Given the description of an element on the screen output the (x, y) to click on. 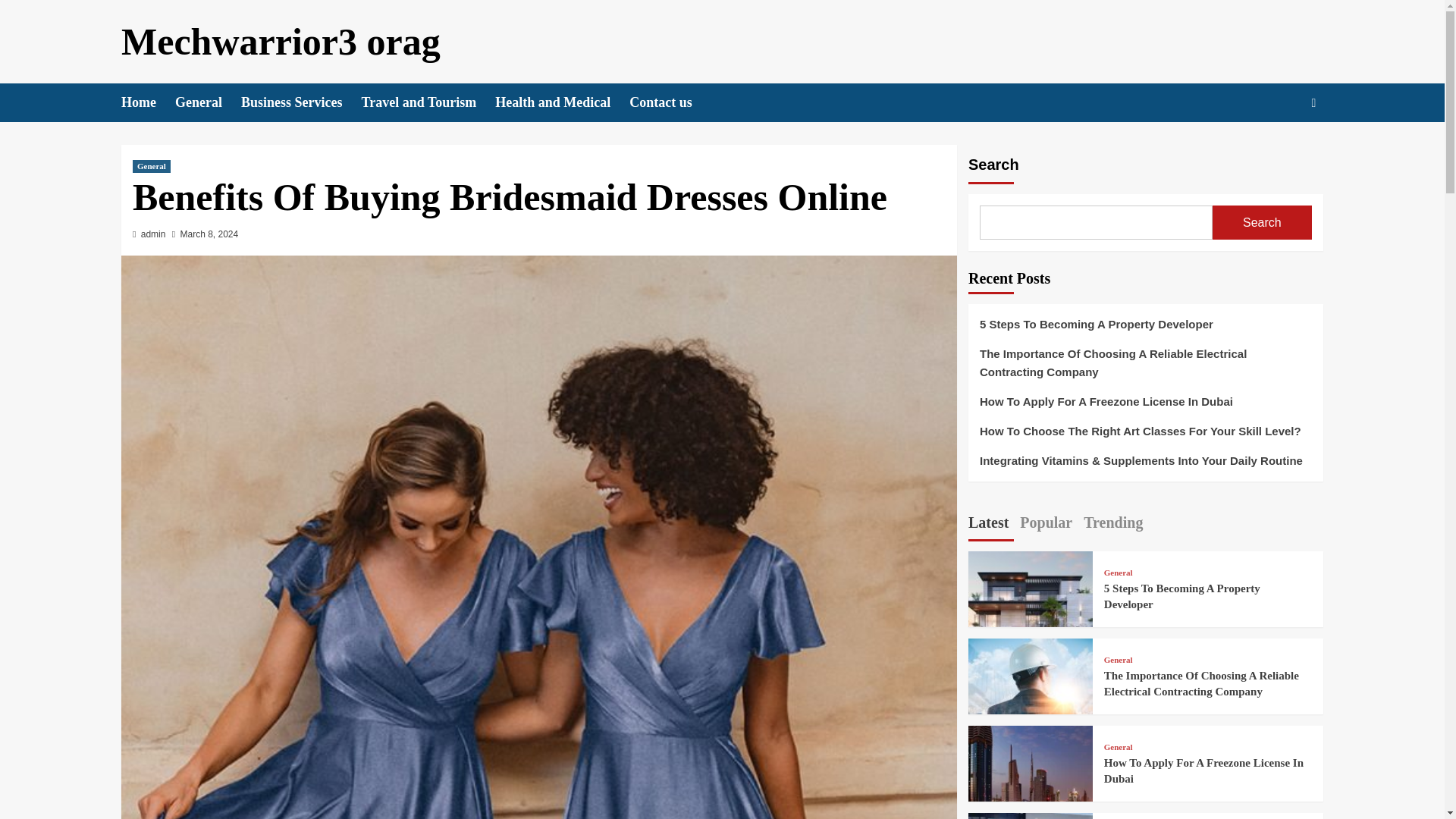
Search (1261, 222)
Health and Medical (561, 102)
How To Choose The Right Art Classes For Your Skill Level? (1145, 437)
Business Services (301, 102)
Mechwarrior3 orag (280, 41)
March 8, 2024 (209, 234)
Search (1278, 148)
How To Apply For A Freezone License In Dubai (1145, 407)
Home (147, 102)
Contact us (669, 102)
admin (153, 234)
Popular (1045, 524)
Latest (988, 524)
General (207, 102)
